Given the description of an element on the screen output the (x, y) to click on. 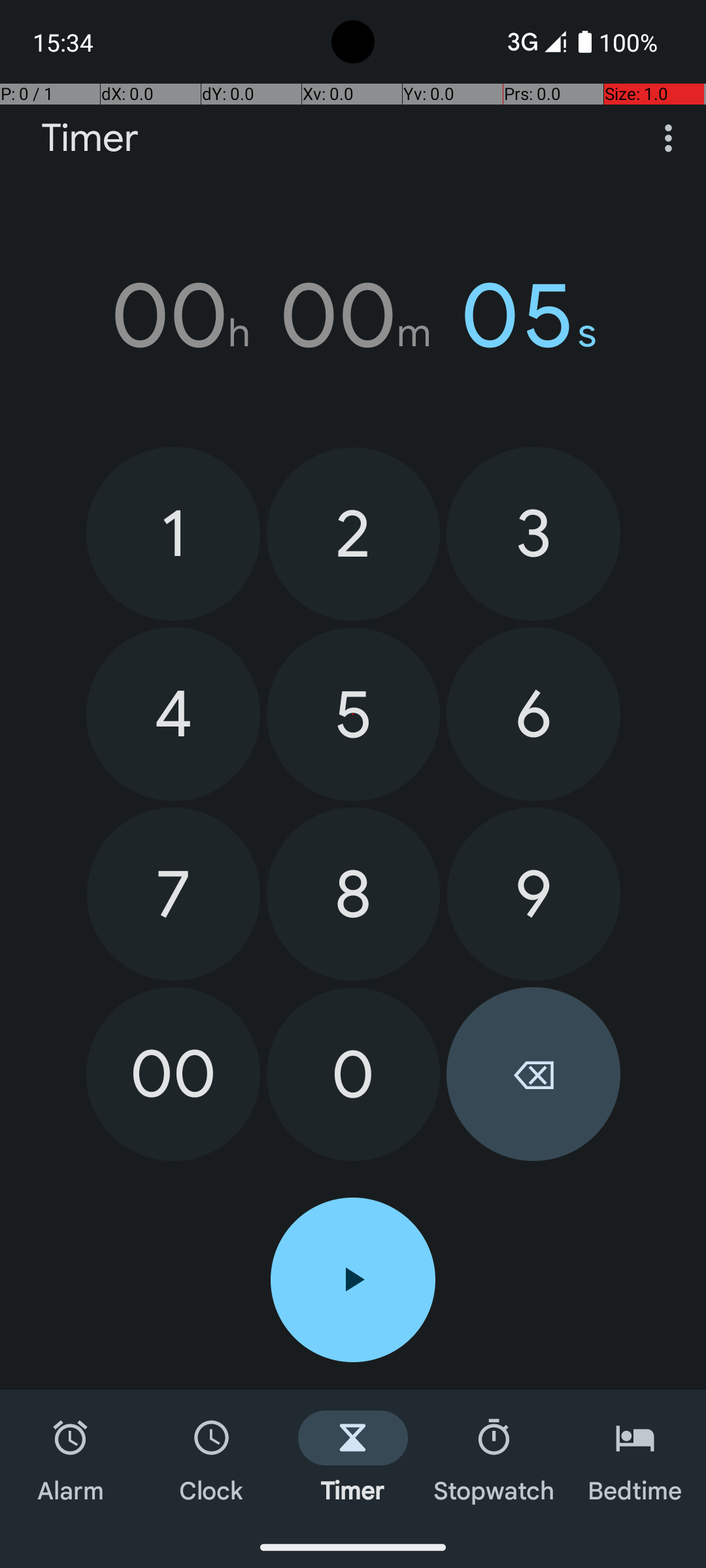
00h 00m 05s Element type: android.widget.TextView (353, 315)
